Given the description of an element on the screen output the (x, y) to click on. 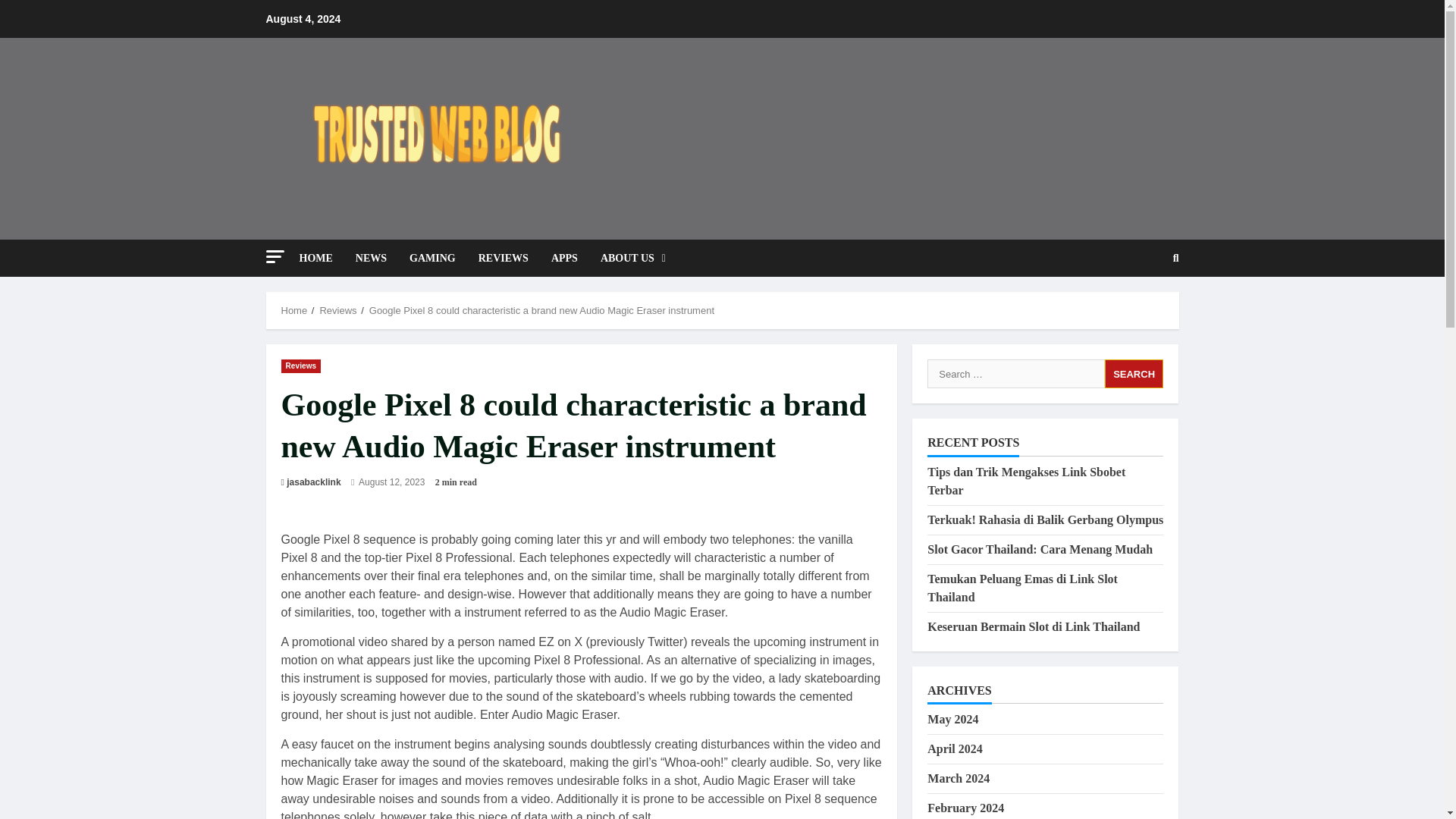
Search (1176, 257)
Home (294, 310)
ABOUT US (627, 257)
Search (1134, 373)
HOME (320, 257)
GAMING (432, 257)
APPS (564, 257)
REVIEWS (503, 257)
jasabacklink (313, 481)
NEWS (370, 257)
Reviews (300, 366)
Search (1134, 373)
Search (1139, 309)
Reviews (337, 310)
